Given the description of an element on the screen output the (x, y) to click on. 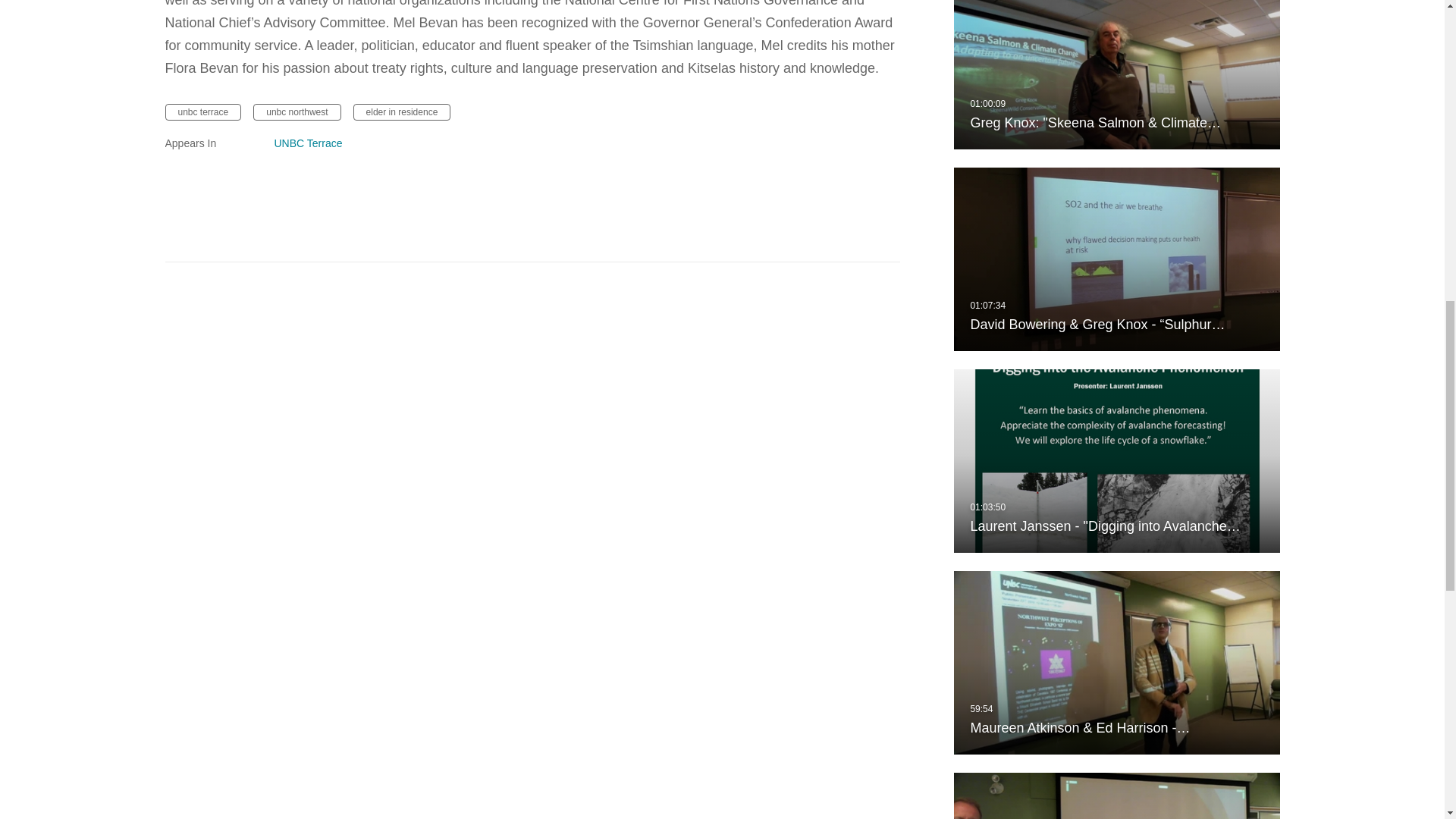
Laurent Janssen - "Digging into Avalanche Phenomenon" (1116, 460)
Appears In (210, 142)
